Given the description of an element on the screen output the (x, y) to click on. 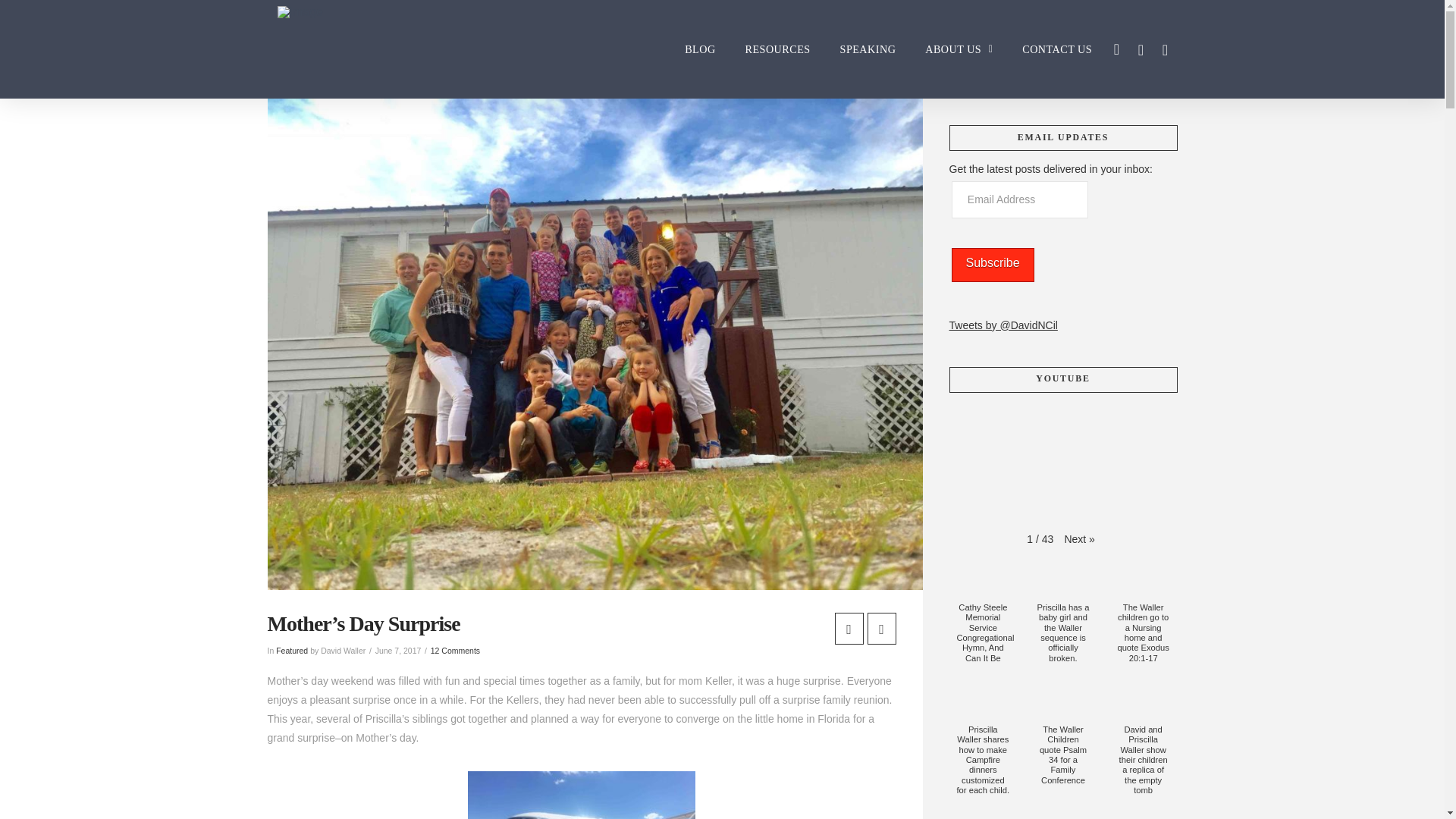
YouTube player (1062, 458)
Featured (291, 650)
ABOUT US (957, 49)
CONTACT US (1055, 49)
Subscribe (991, 264)
12 Comments (455, 650)
Email Address (1018, 198)
RESOURCES (775, 49)
